Given the description of an element on the screen output the (x, y) to click on. 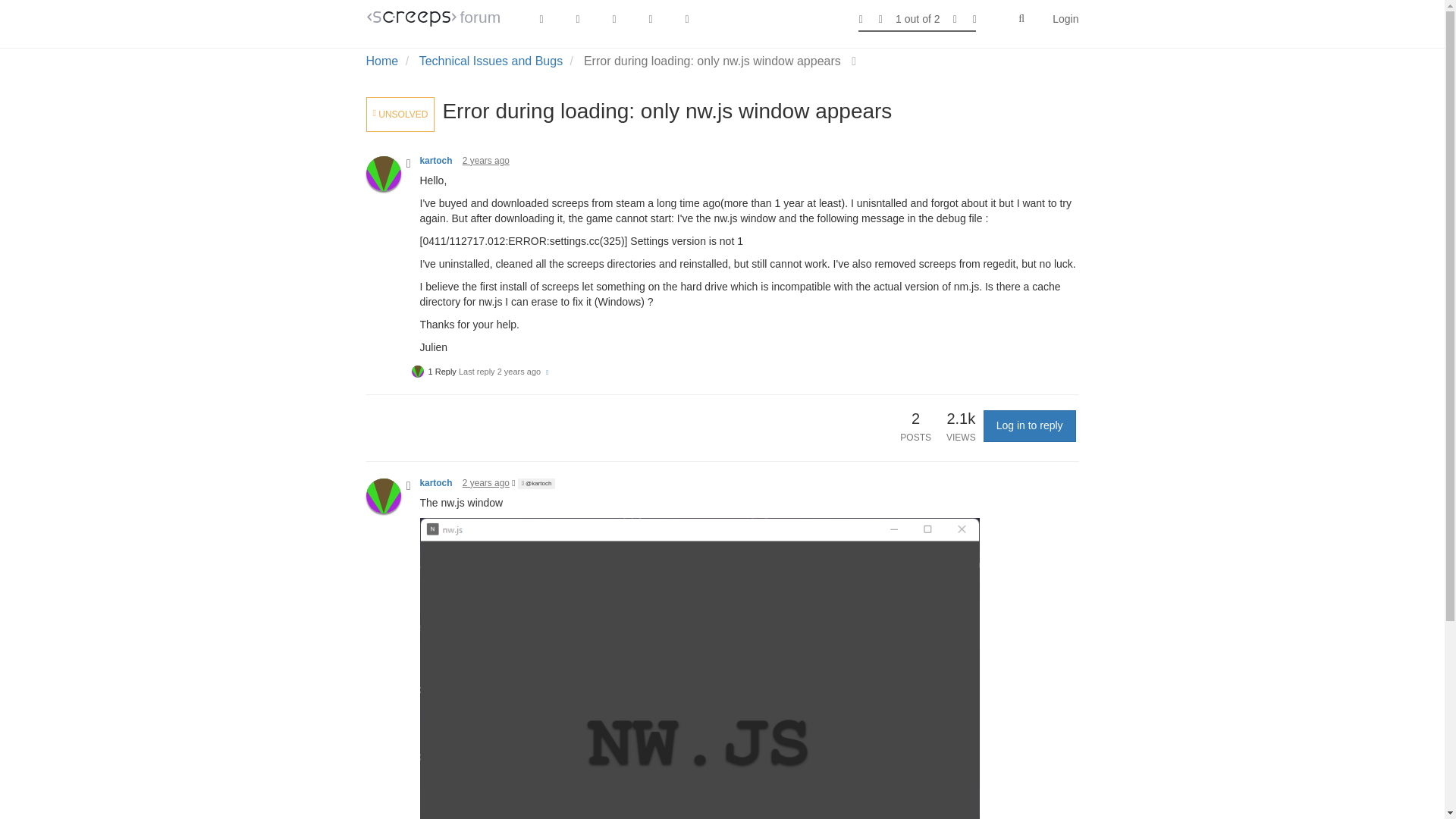
Technical Issues and Bugs (490, 60)
Login (1065, 18)
13 Apr 2022, 01:29 (486, 160)
1 out of 2 (917, 18)
Search (1020, 18)
Home (381, 60)
2 years ago (486, 160)
kartoch (436, 160)
1 Reply Last reply 2 years ago (480, 370)
